Given the description of an element on the screen output the (x, y) to click on. 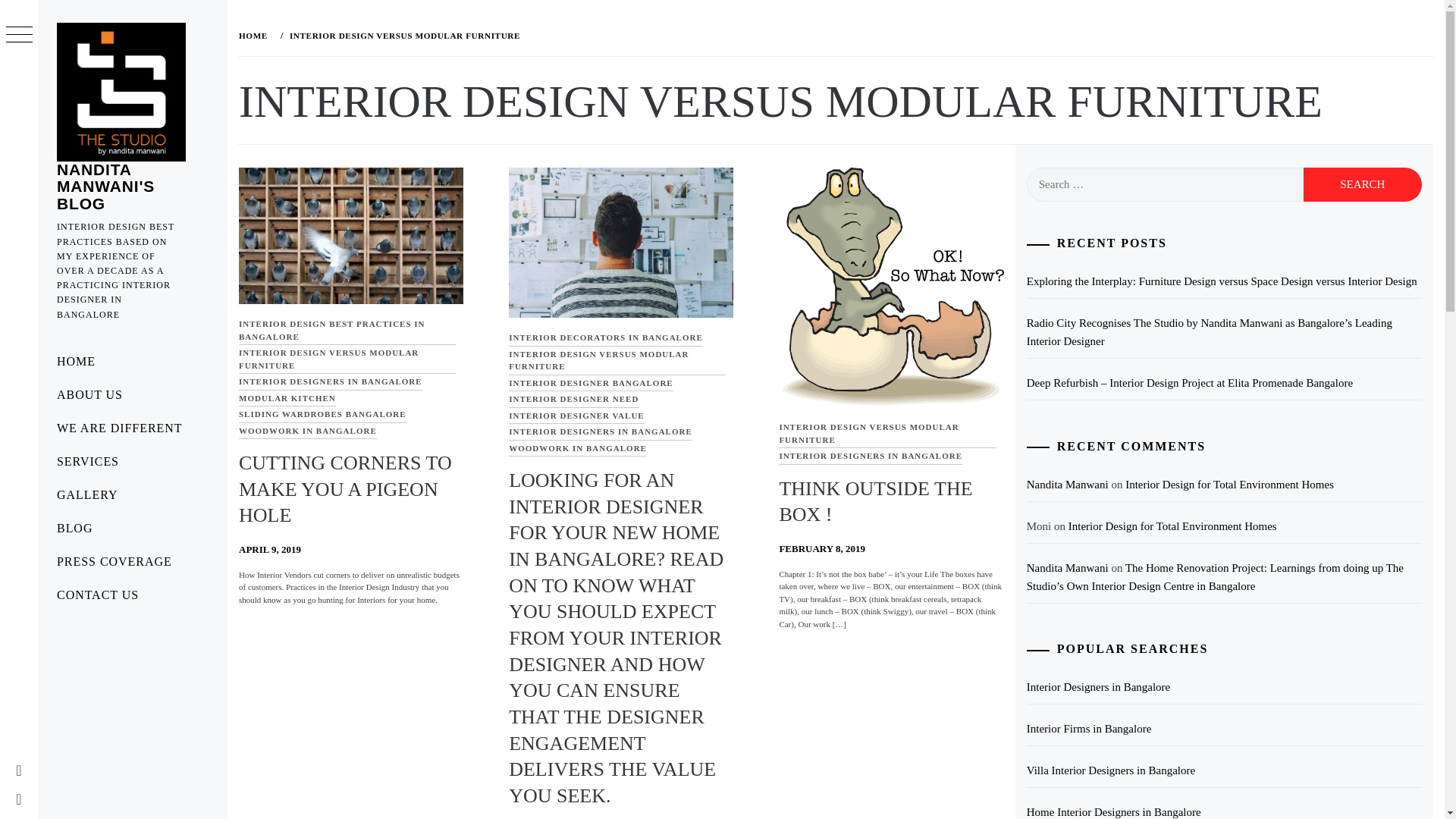
NANDITA MANWANI'S BLOG (105, 186)
Search (1362, 184)
Search (646, 37)
SLIDING WARDROBES BANGALORE (322, 414)
MODULAR KITCHEN (287, 397)
WE ARE DIFFERENT (132, 428)
INTERIOR DESIGNERS IN BANGALORE (600, 432)
GALLERY (132, 494)
INTERIOR DESIGNER BANGALORE (590, 383)
CUTTING CORNERS TO MAKE YOU A PIGEON HOLE (344, 489)
WOODWORK IN BANGALORE (307, 431)
INTERIOR DESIGN VERSUS MODULAR FURNITURE (346, 358)
INTERIOR DESIGNERS IN BANGALORE (330, 381)
HOME (132, 361)
PRESS COVERAGE (132, 561)
